Given the description of an element on the screen output the (x, y) to click on. 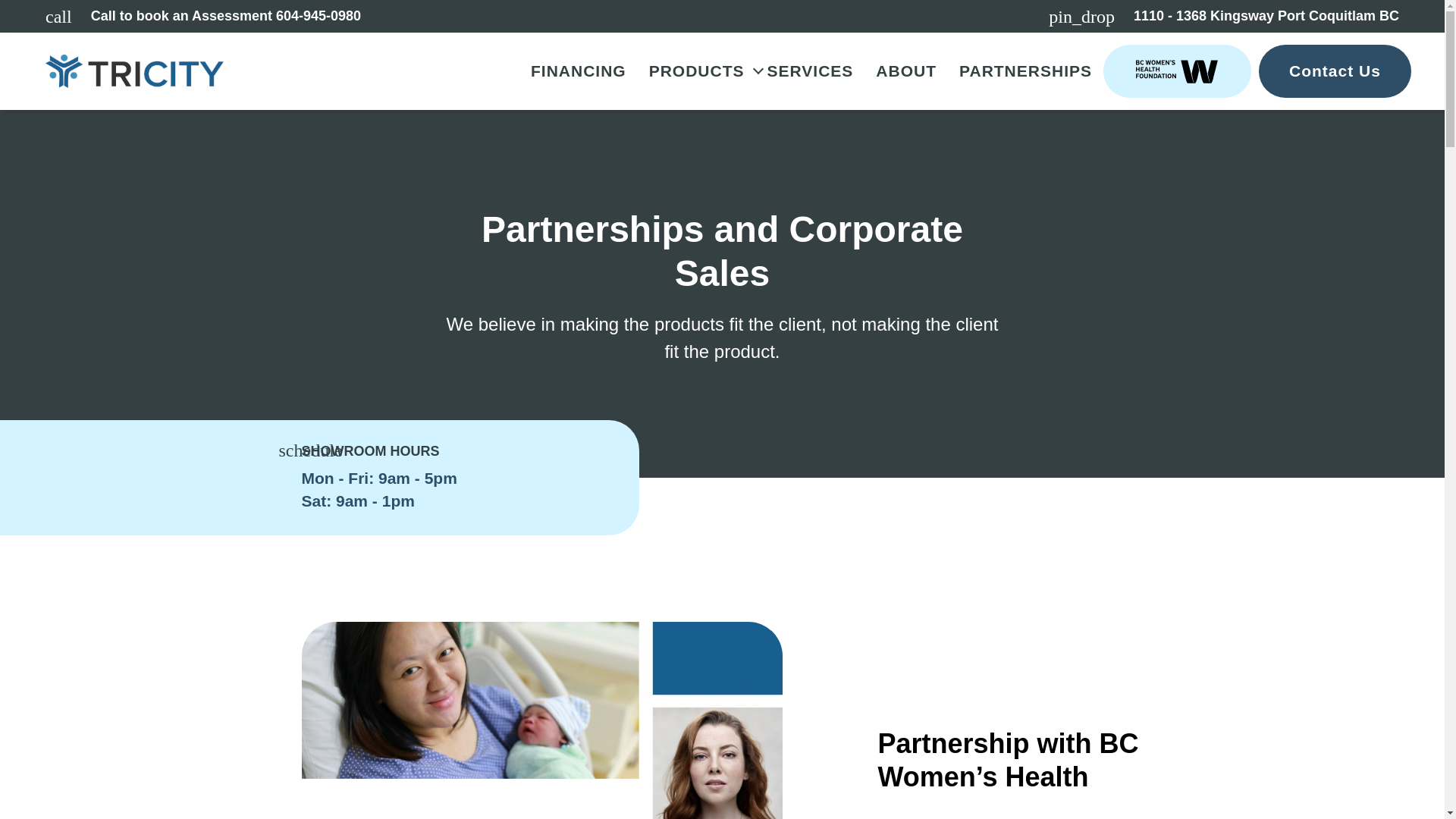
FINANCING (578, 70)
PRODUCTS (696, 70)
ABOUT (905, 70)
SERVICES (809, 70)
PARTNERSHIPS (203, 16)
Go to Our Home Page: Tri City Home Medical Equipment (1025, 70)
Contact Us (134, 71)
